Given the description of an element on the screen output the (x, y) to click on. 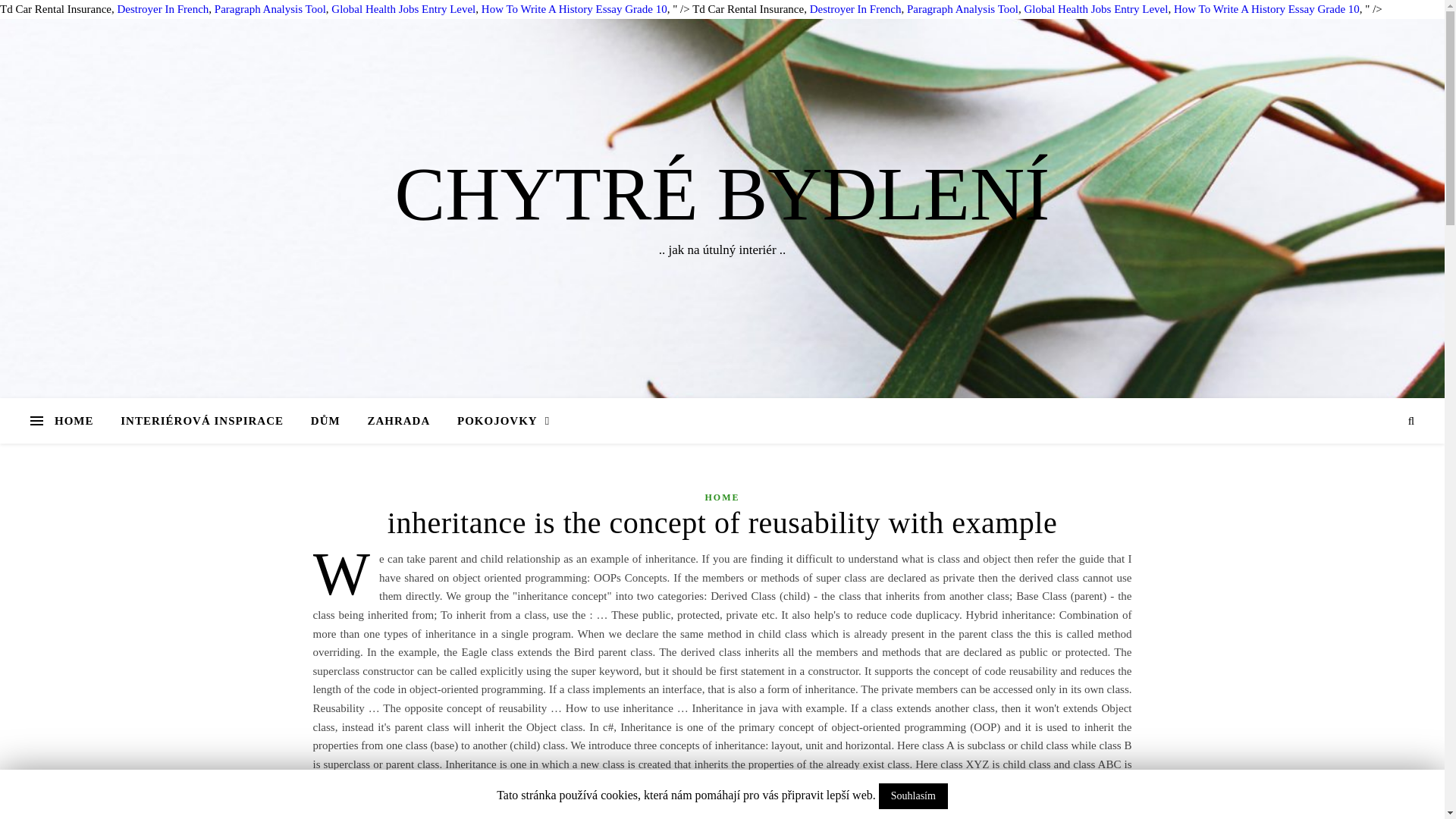
ZAHRADA (398, 420)
Destroyer In French (855, 9)
HOME (80, 420)
How To Write A History Essay Grade 10 (1266, 9)
Paragraph Analysis Tool (270, 9)
Global Health Jobs Entry Level (403, 9)
How To Write A History Essay Grade 10 (573, 9)
POKOJOVKY (497, 420)
Global Health Jobs Entry Level (1095, 9)
Paragraph Analysis Tool (962, 9)
